Given the description of an element on the screen output the (x, y) to click on. 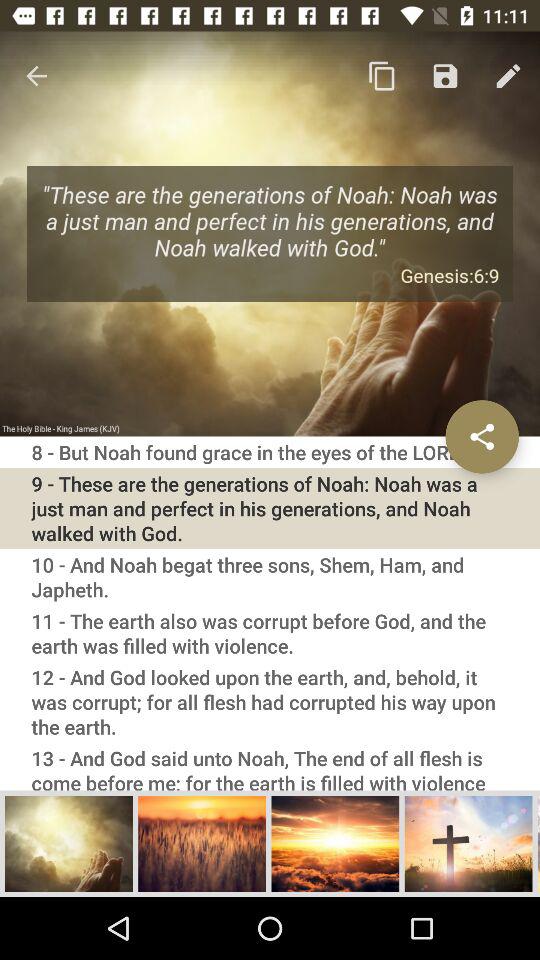
flip until the 9 these are icon (270, 508)
